Given the description of an element on the screen output the (x, y) to click on. 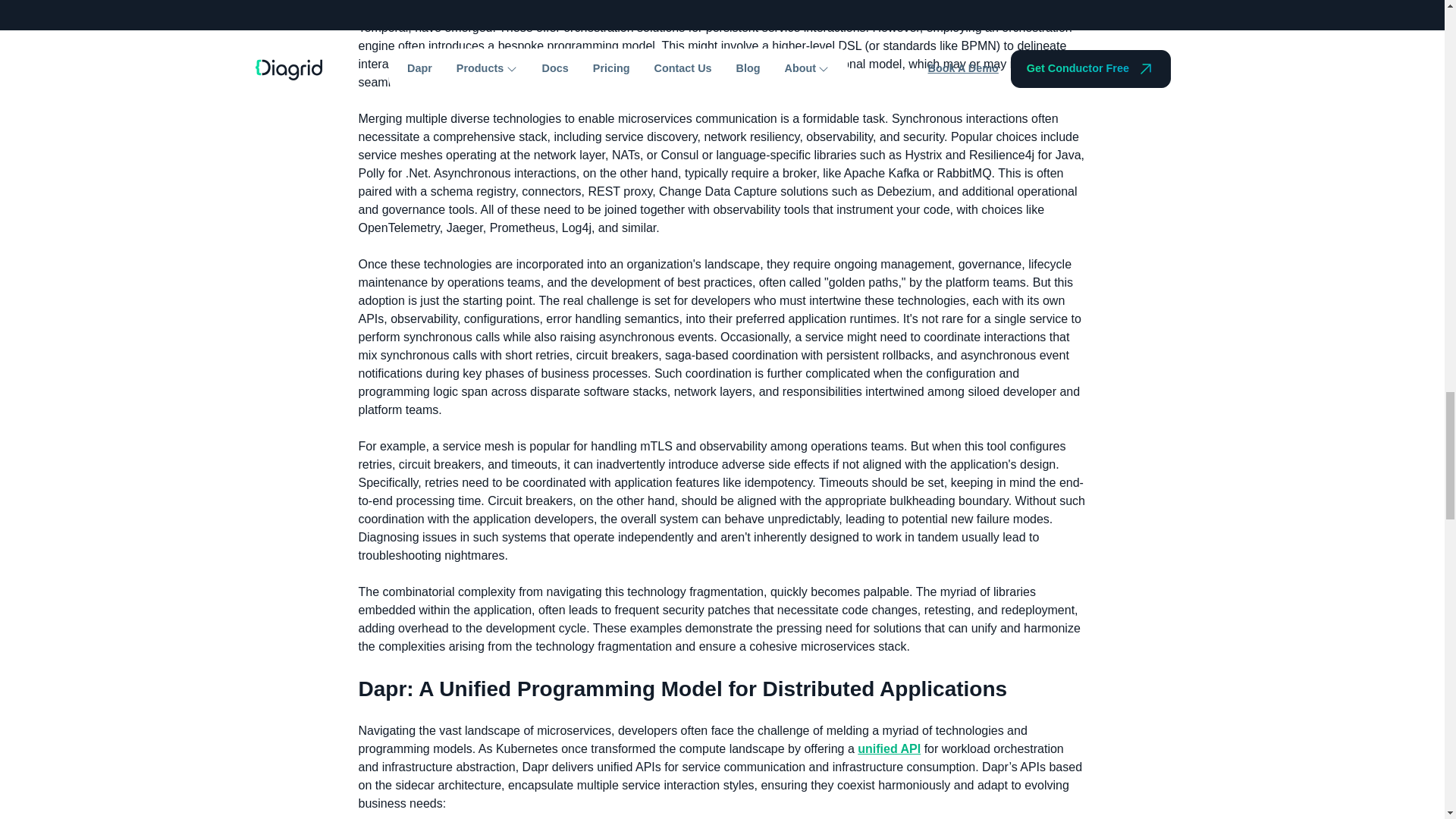
coordination patterns (584, 9)
unified API (888, 748)
